Given the description of an element on the screen output the (x, y) to click on. 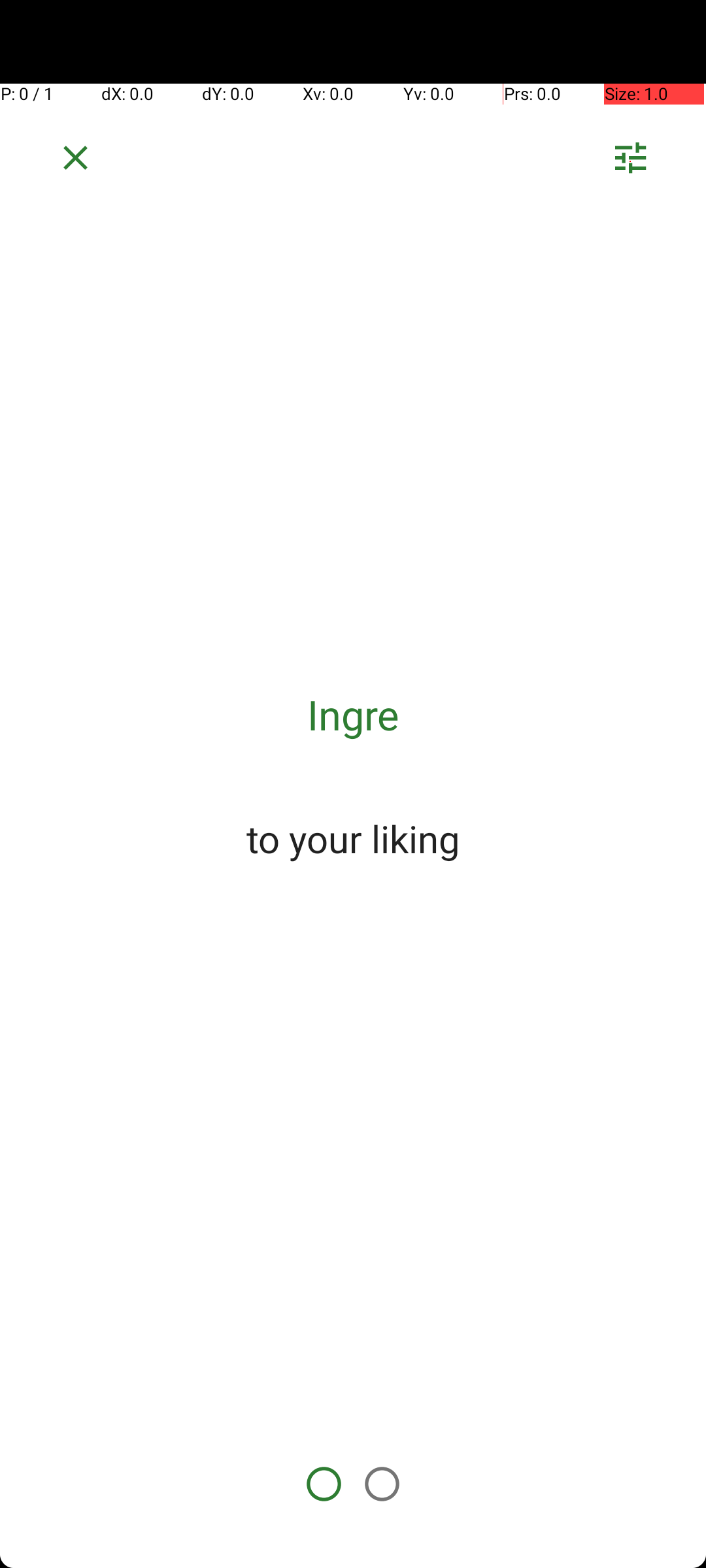
to your liking Element type: android.widget.TextView (352, 838)
